Given the description of an element on the screen output the (x, y) to click on. 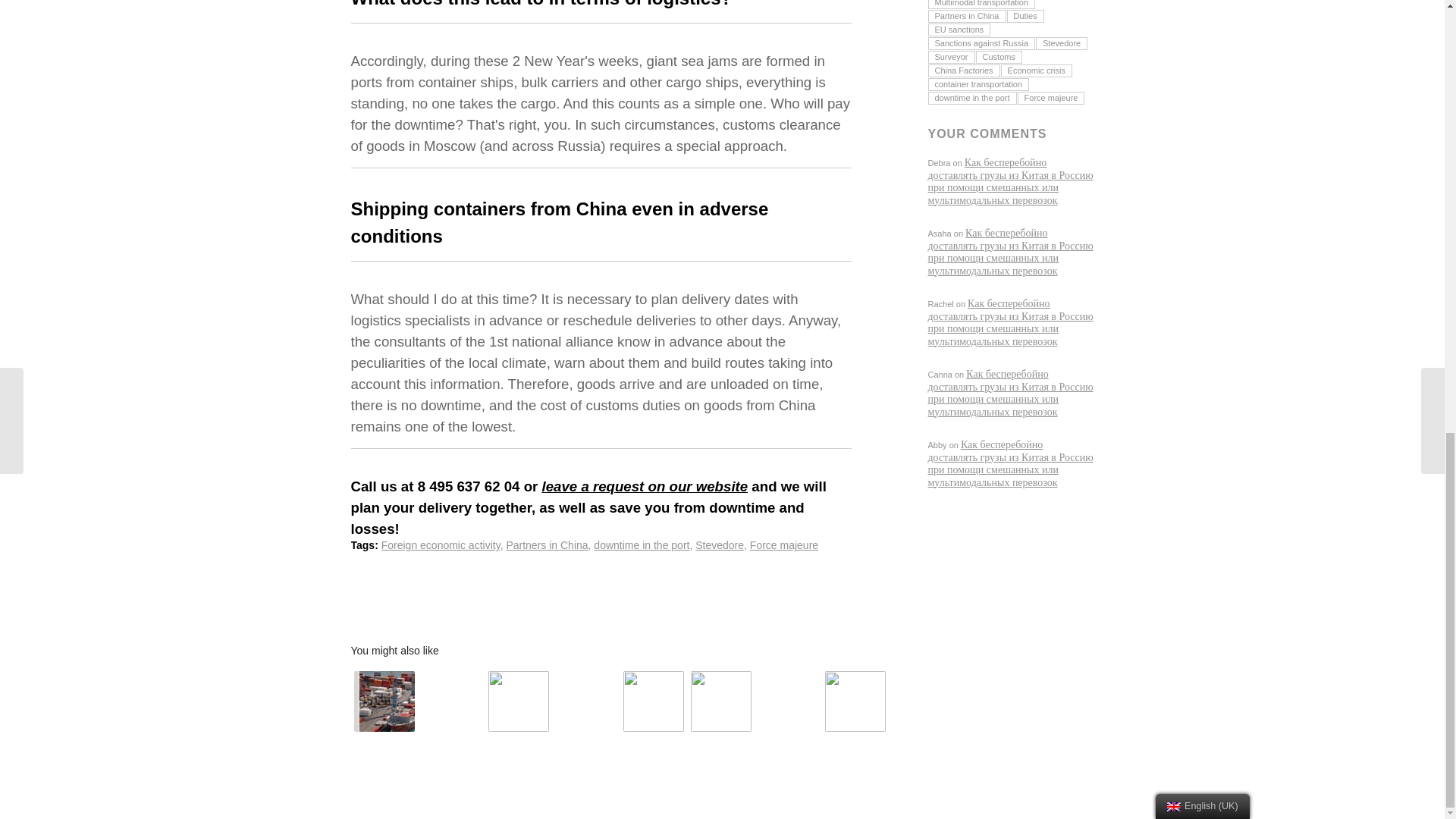
multimodalnje-perevozoki-iz-kitaya-mini-2 (720, 701)
multimodalnje-perevozoki-iz-kitaya-mini-10 (653, 701)
multimodalnje-perevozoki-iz-kitaya-mini-1 (855, 701)
multimodalnje-perevozoki-iz-kitaya-mini-8 (383, 701)
multimodalnje-perevozoki-iz-kitaya-mini-6 (517, 701)
